Given the description of an element on the screen output the (x, y) to click on. 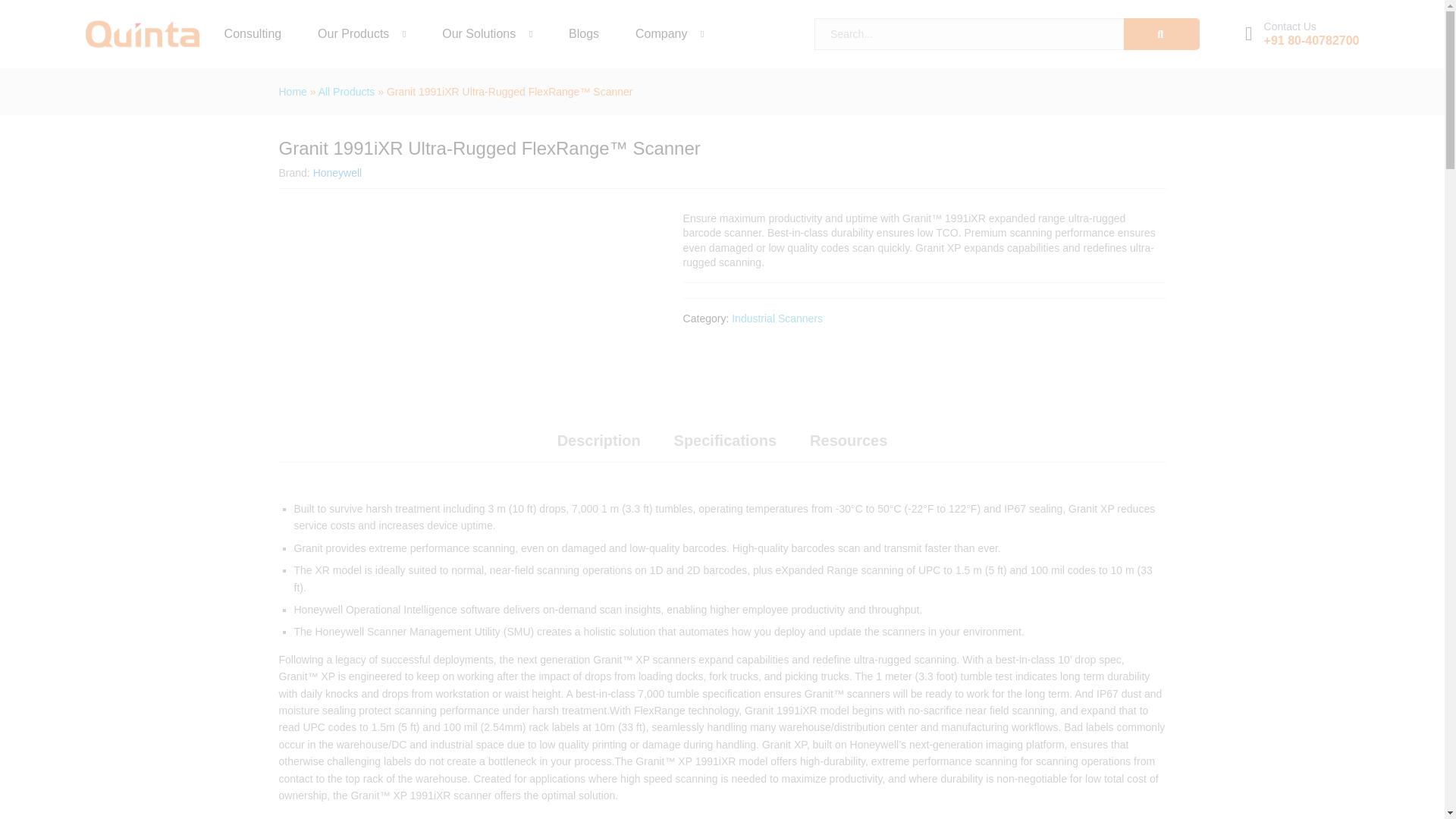
Our Solutions (478, 33)
Our Products (352, 33)
Consulting (253, 33)
